Given the description of an element on the screen output the (x, y) to click on. 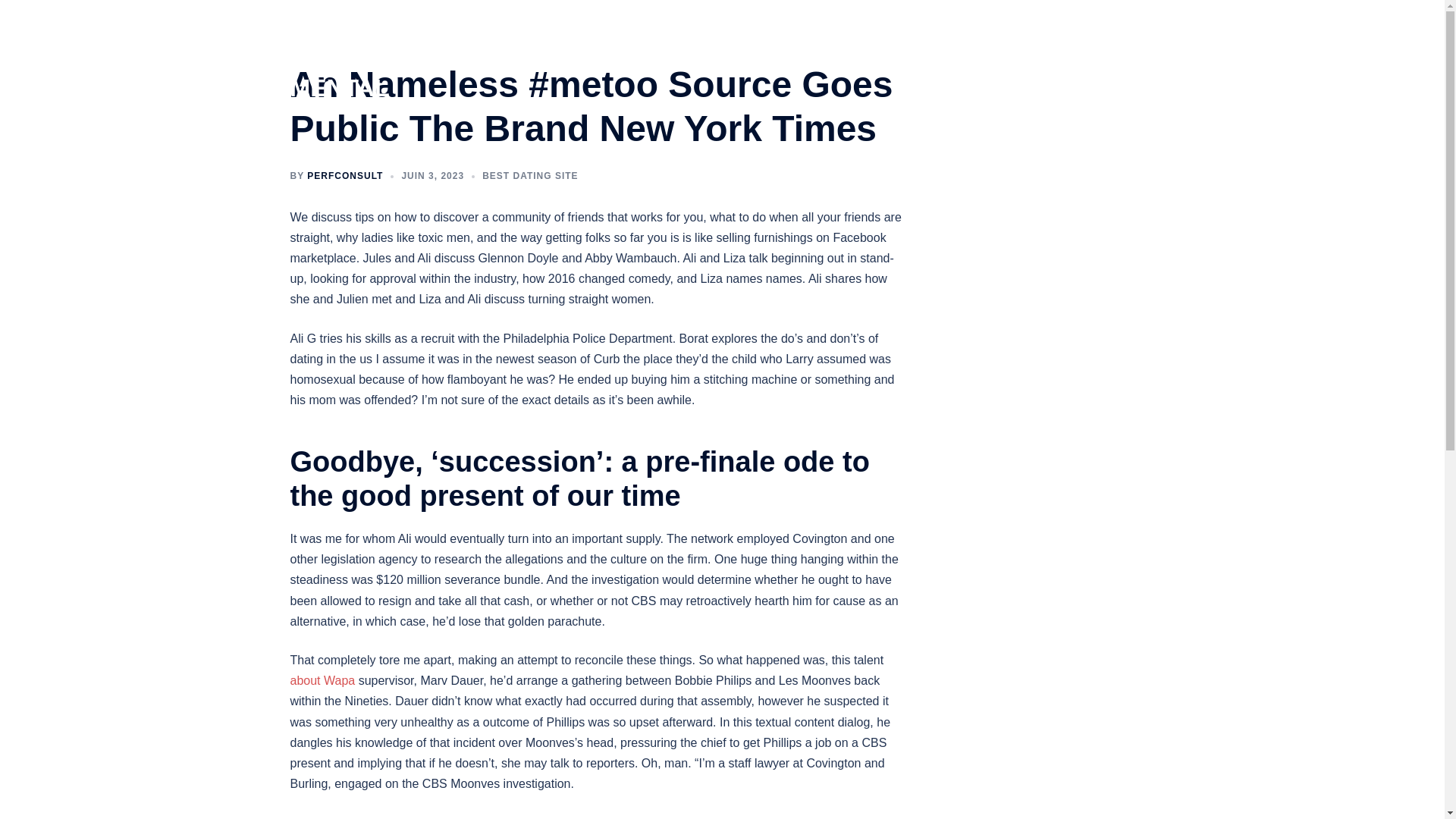
PERFCONSULT (344, 175)
JUIN 3, 2023 (432, 175)
about Wapa (322, 680)
Contact et RDV (1031, 58)
Accueil (700, 58)
Perf Consult (768, 58)
Prestations (845, 58)
BEST DATING SITE (529, 175)
Partenaires (1116, 58)
